Given the description of an element on the screen output the (x, y) to click on. 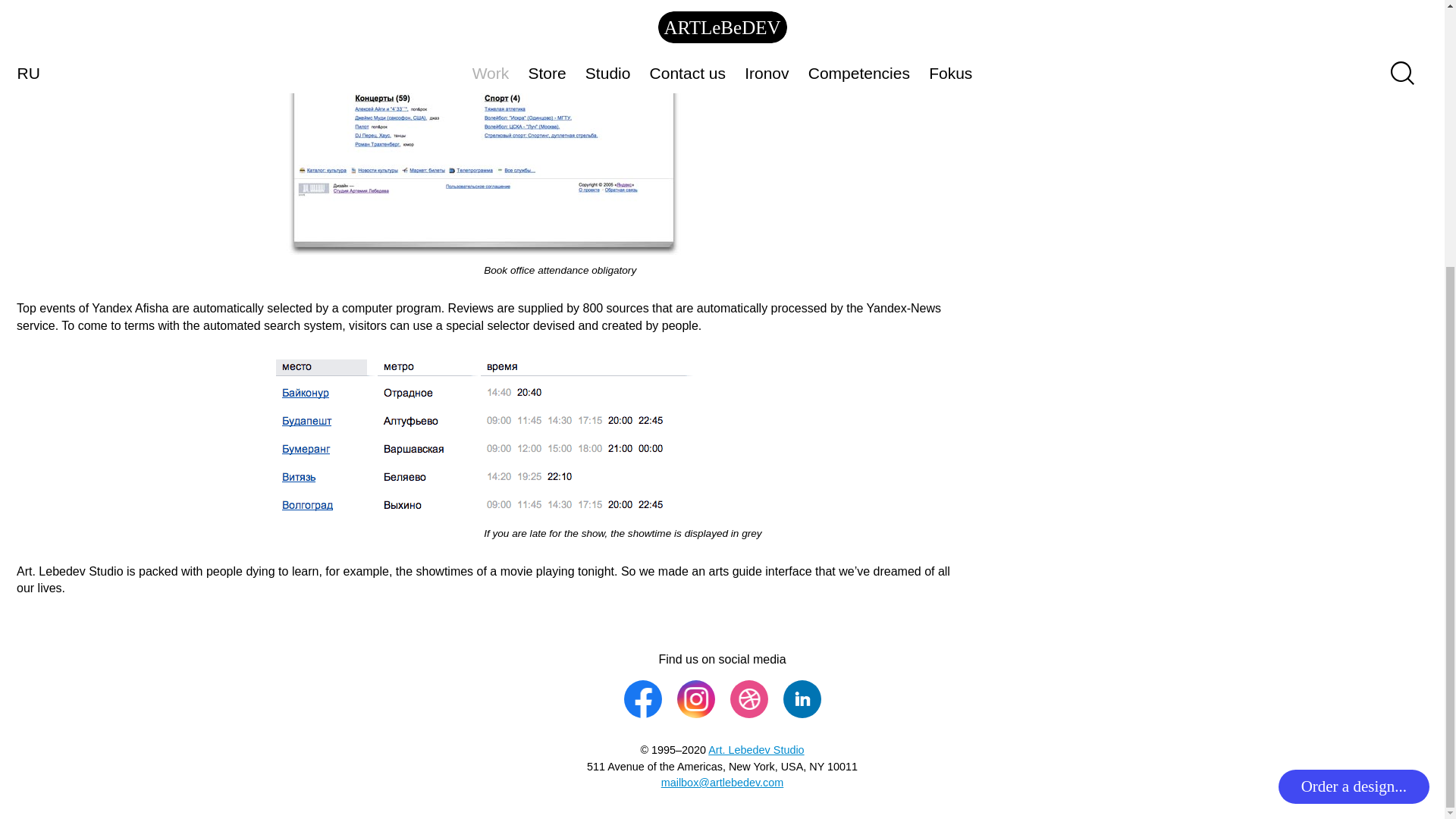
Art. Lebedev Studio (755, 749)
